Given the description of an element on the screen output the (x, y) to click on. 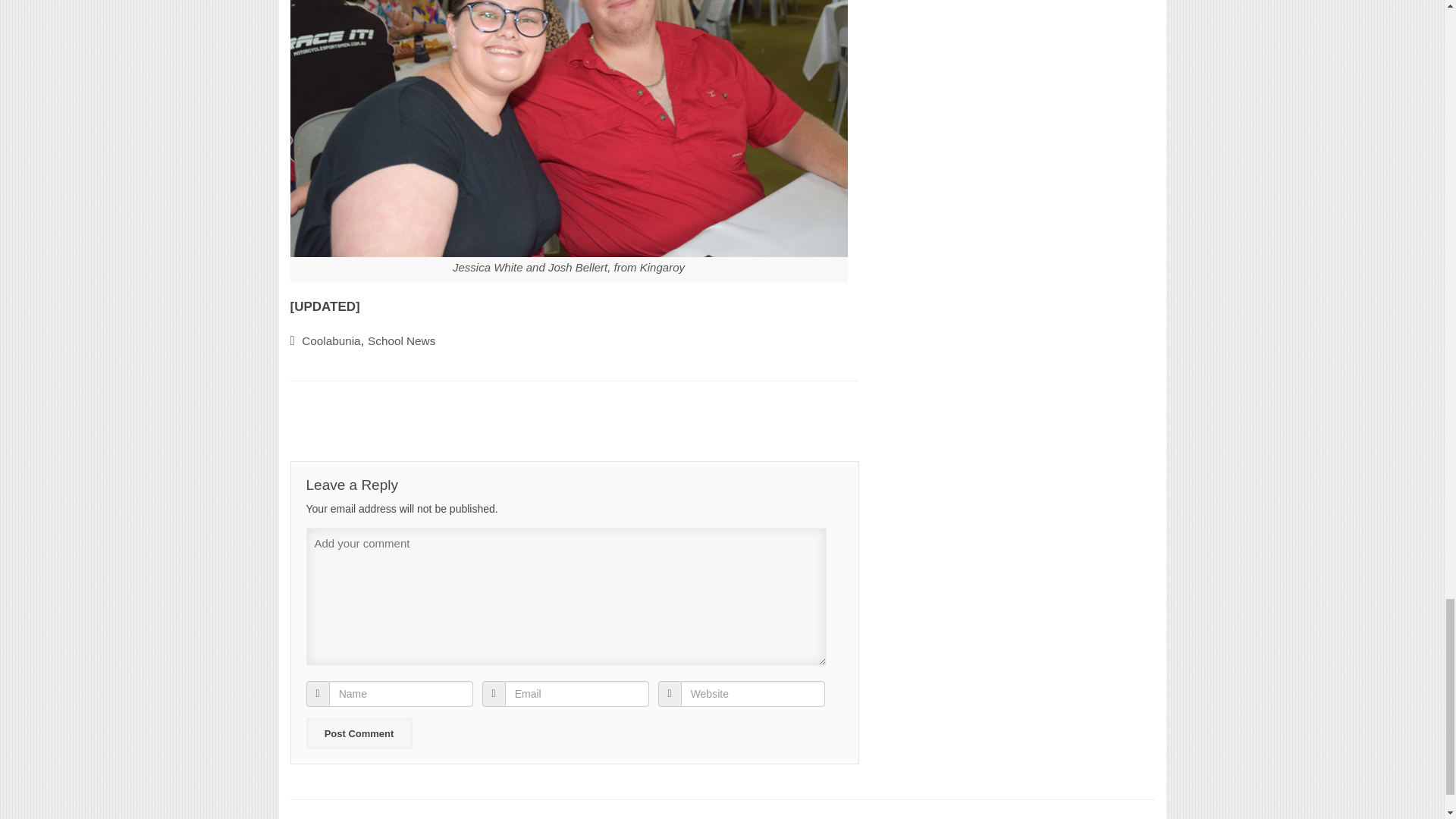
Post Comment (358, 733)
